Given the description of an element on the screen output the (x, y) to click on. 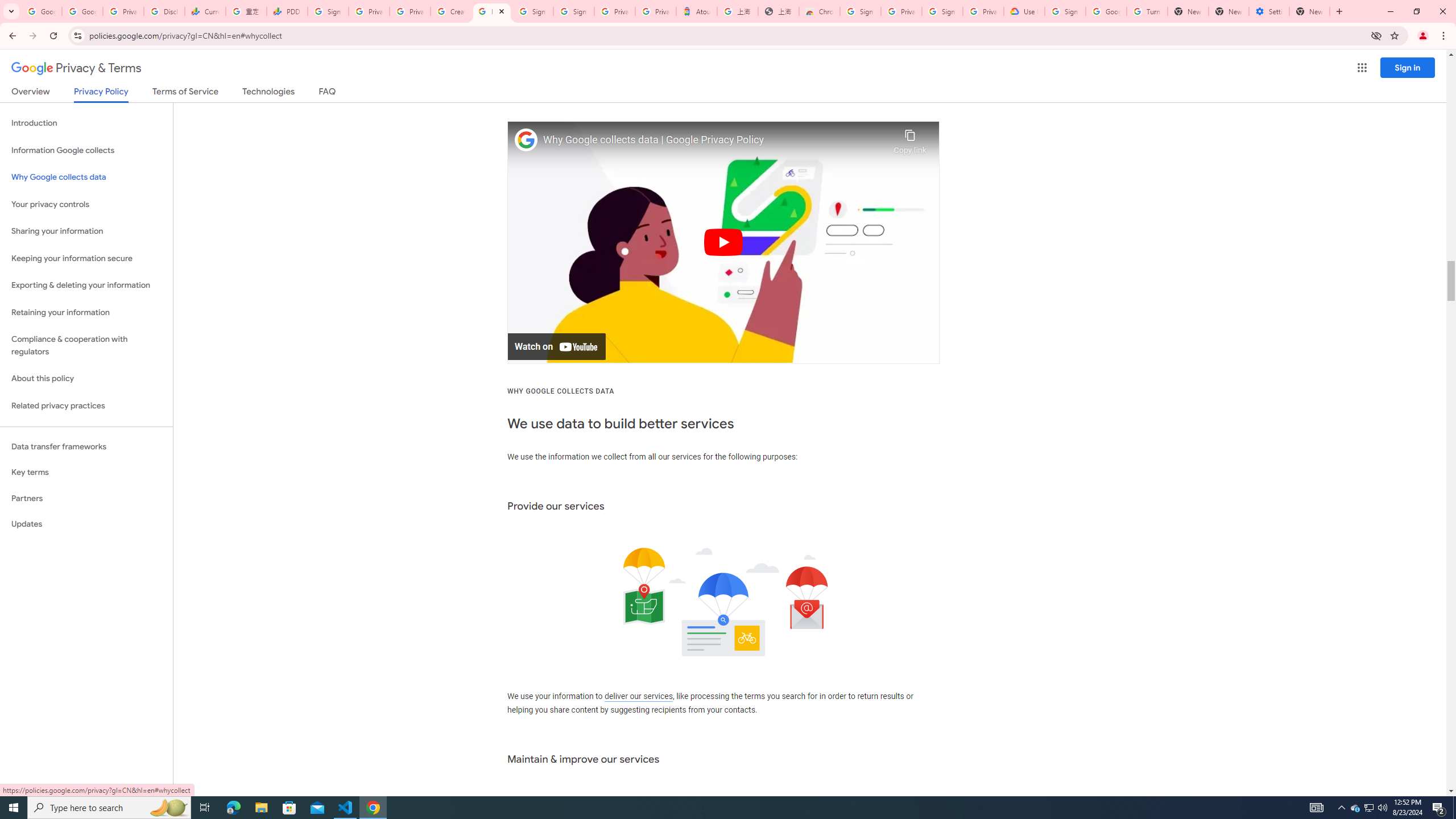
New Tab (1309, 11)
Settings - System (1268, 11)
Sign in - Google Accounts (327, 11)
Sharing your information (86, 230)
Sign in - Google Accounts (532, 11)
